Given the description of an element on the screen output the (x, y) to click on. 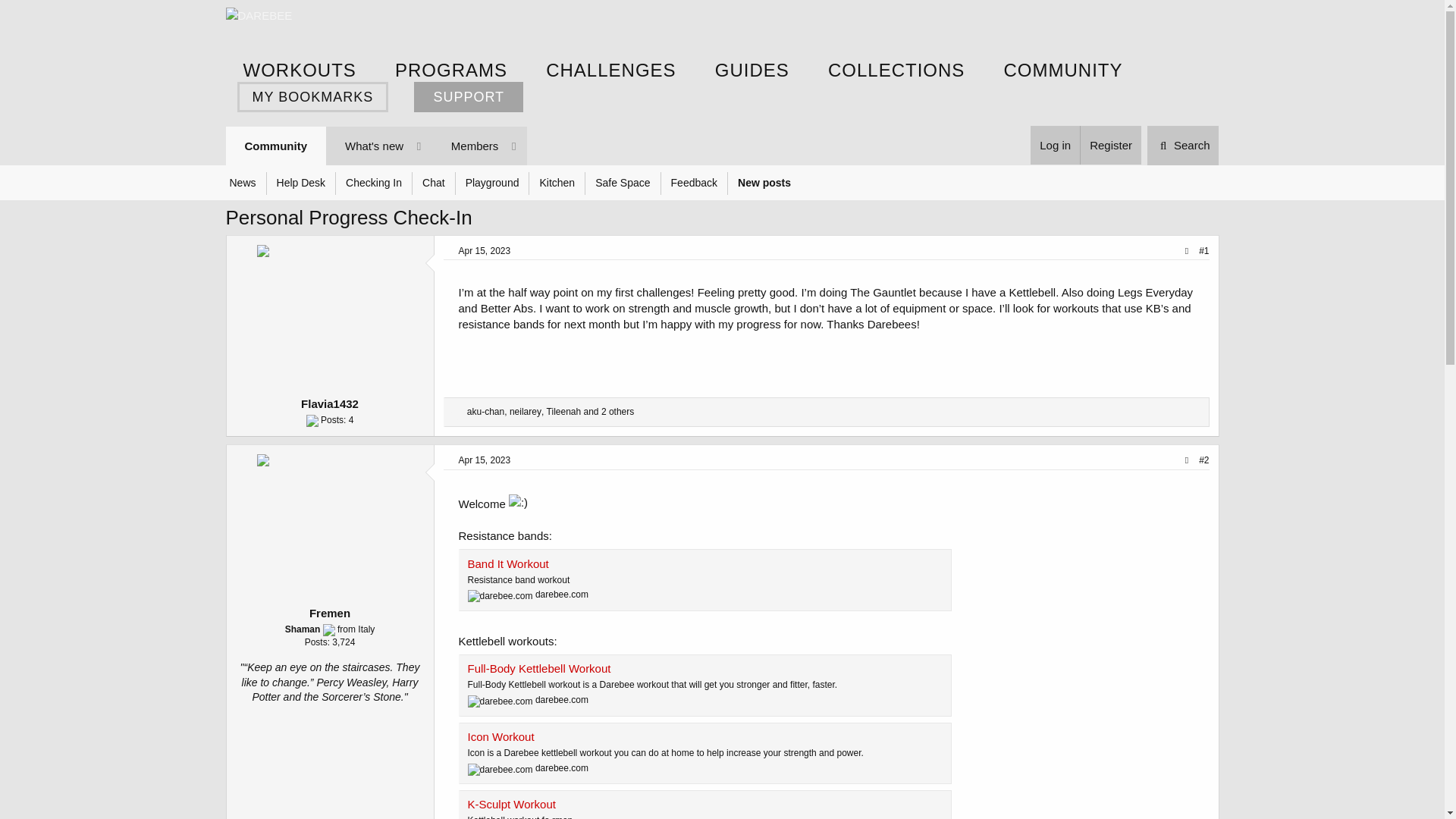
Members (466, 145)
Log in (1055, 145)
SUPPORT (467, 96)
Search (1182, 145)
GUIDES (751, 69)
COLLECTIONS (895, 69)
Community (275, 145)
COMMUNITY (1062, 69)
DAREBEE (258, 15)
Apr 15, 2023 at 5:17 PM (483, 460)
